Given the description of an element on the screen output the (x, y) to click on. 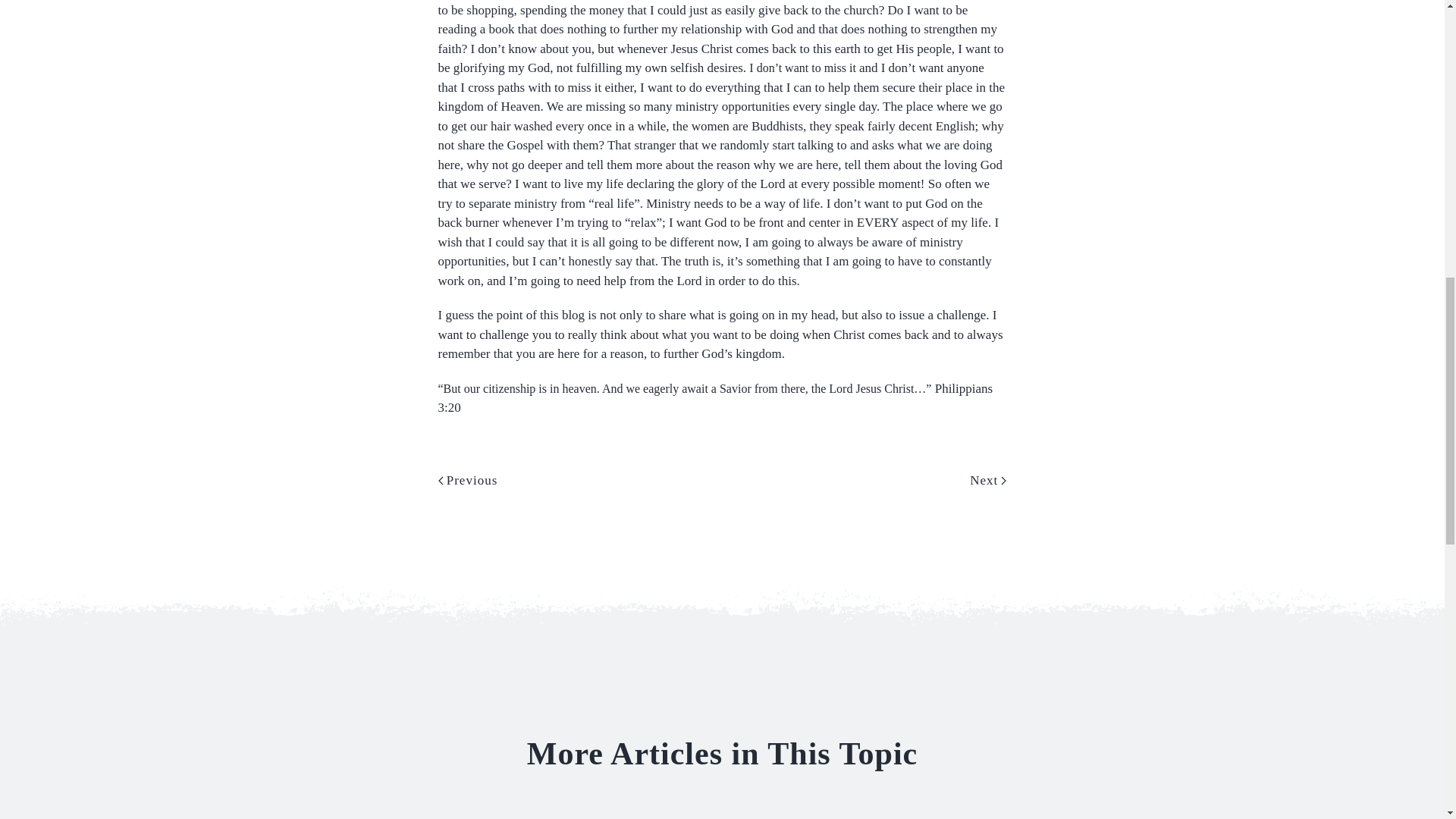
This is Cambodia (855, 814)
Next (987, 464)
Previous (467, 464)
490 Baht Buzzer. (589, 814)
Top 10 Things to Bring With You to Phuket (322, 814)
Get over yourself, Hannah. (1120, 814)
